Given the description of an element on the screen output the (x, y) to click on. 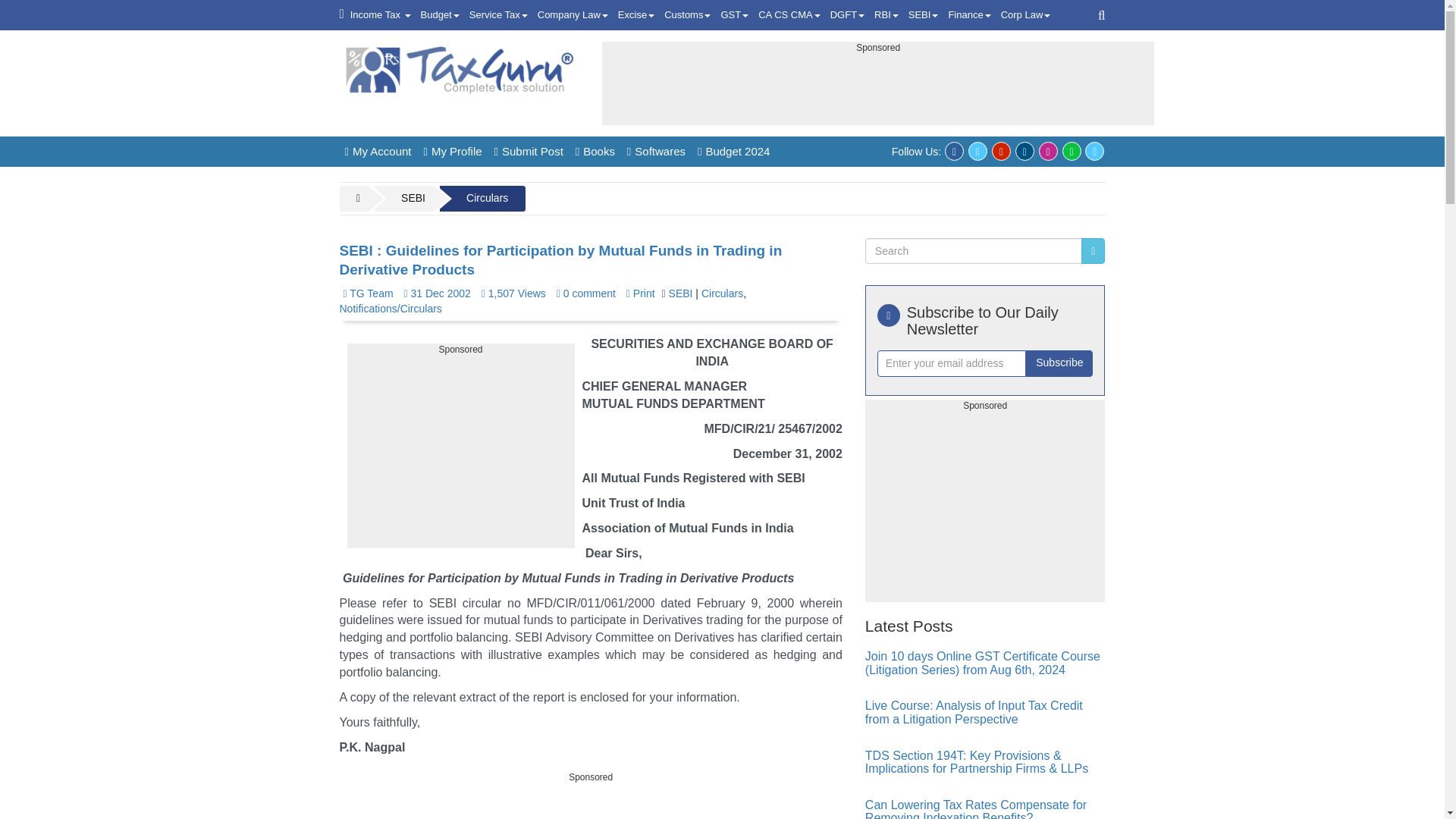
Income Tax Related Information (380, 15)
Income Tax (380, 15)
Budget (439, 15)
Excise (636, 15)
Company Law (572, 15)
Customs (687, 15)
Service Tax Article News Notifications Judgments (498, 15)
Union Budget 2024 Article News Notifications (439, 15)
Service Tax (498, 15)
